Given the description of an element on the screen output the (x, y) to click on. 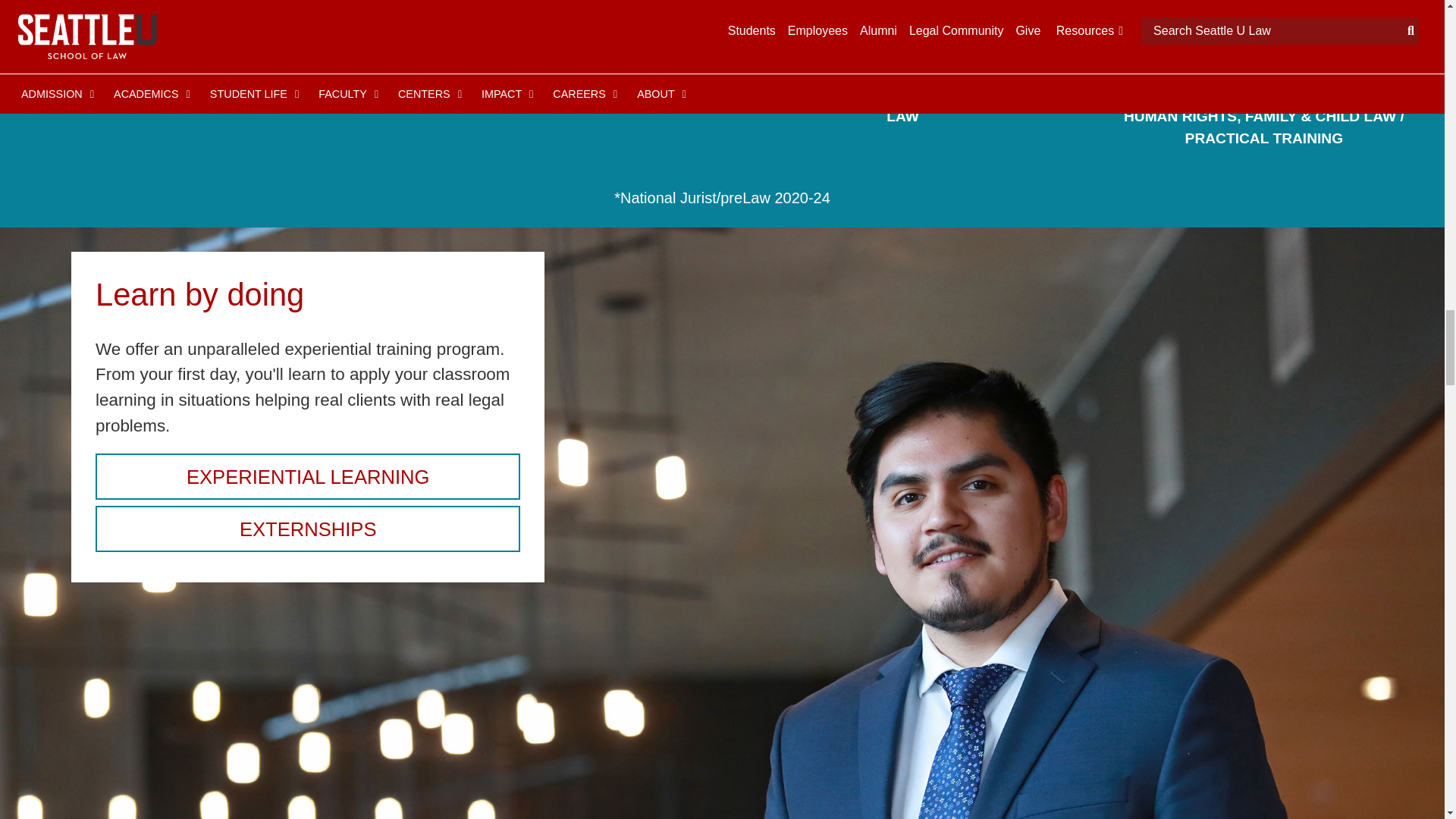
Externships (307, 528)
Lawyering skills training (307, 476)
